Given the description of an element on the screen output the (x, y) to click on. 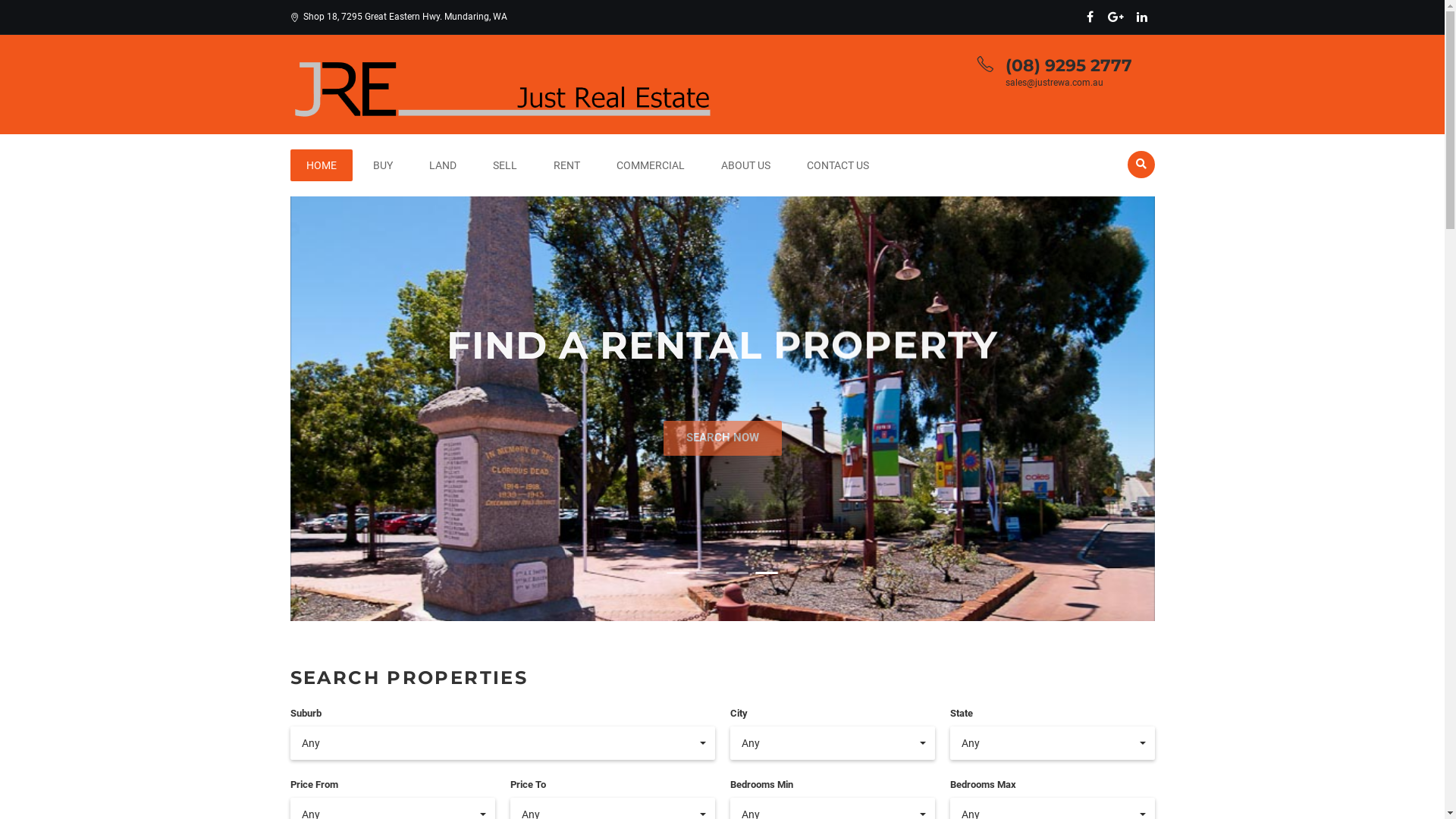
Any
  Element type: text (831, 742)
Any
  Element type: text (1051, 742)
SEARCH NOW Element type: text (721, 460)
BUY Element type: text (381, 165)
RENT Element type: text (565, 165)
COMMERCIAL Element type: text (650, 165)
sales@justrewa.com.au Element type: text (1054, 82)
SELL Element type: text (504, 165)
Shop 18, 7295 Great Eastern Hwy. Mundaring, WA Element type: text (397, 16)
(08) 9295 2777 Element type: text (1068, 65)
SEARCH NOW Element type: text (721, 425)
CONTACT US Element type: text (837, 165)
HOME Element type: text (320, 165)
ABOUT US Element type: text (745, 165)
Any
  Element type: text (501, 742)
LAND Element type: text (441, 165)
